Given the description of an element on the screen output the (x, y) to click on. 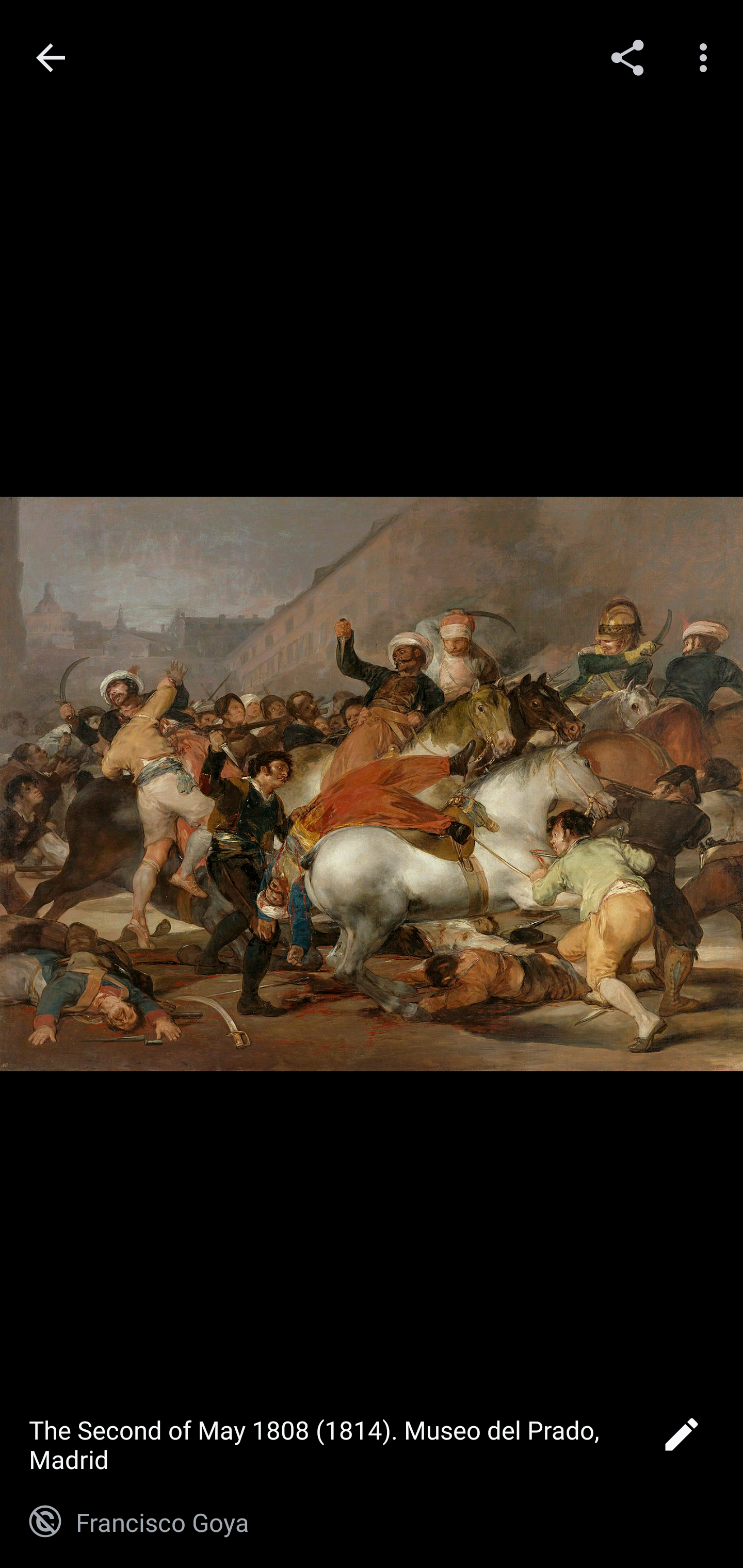
Navigate up (50, 57)
Share (626, 57)
More options (706, 57)
Edit image caption (681, 1439)
Public domain (44, 1521)
